Given the description of an element on the screen output the (x, y) to click on. 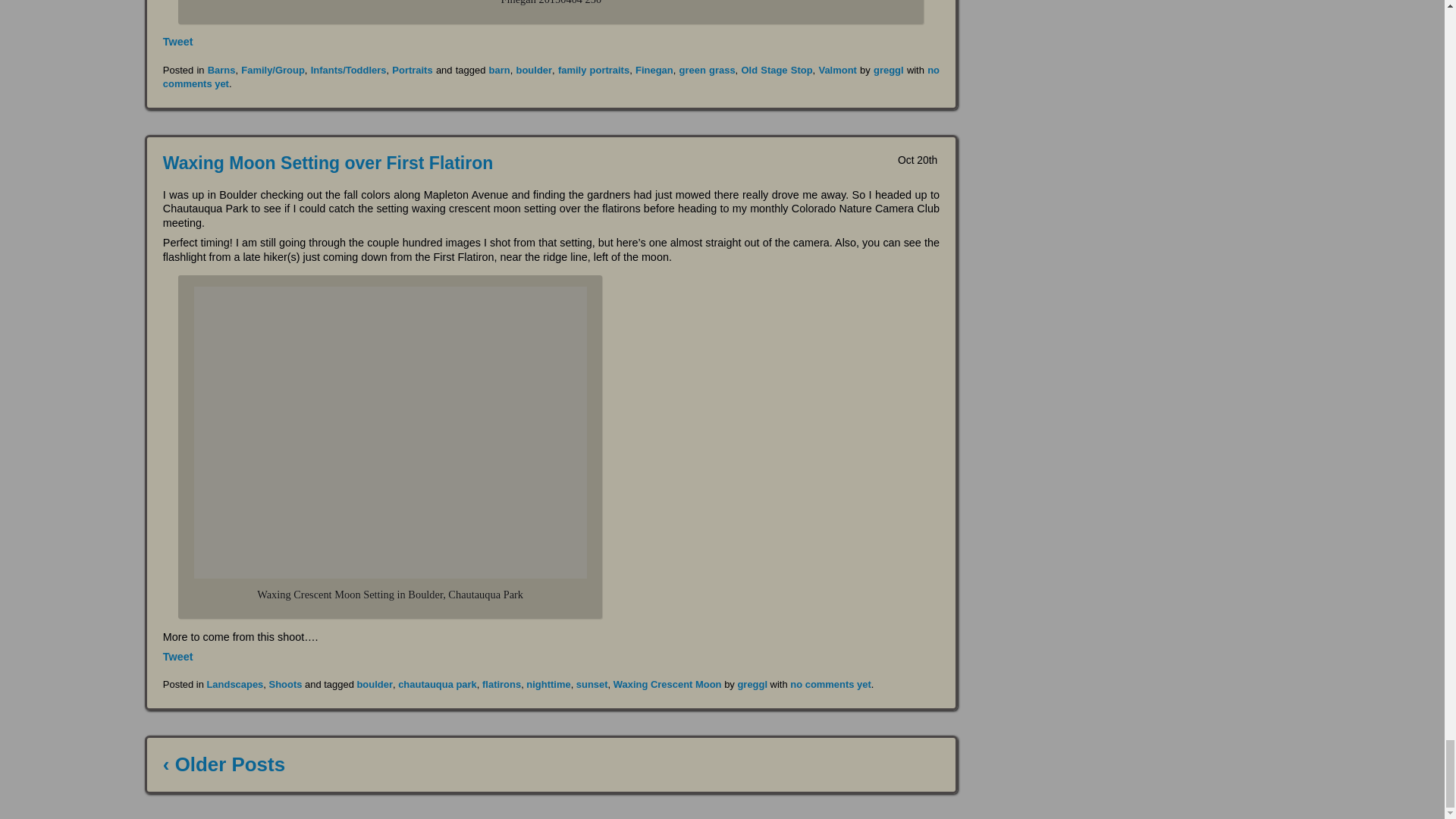
Boulder 20121018 275 (389, 432)
Waxing Crescent Moon (667, 684)
nighttime (547, 684)
boulder (534, 69)
no comments yet (551, 76)
Posts by greggl (888, 69)
Finegan (653, 69)
Landscapes (234, 684)
Waxing Moon Setting over First Flatiron (328, 162)
Barns (221, 69)
greggl (888, 69)
green grass (707, 69)
family portraits (592, 69)
barn (500, 69)
Waxing Moon Setting over First Flatiron (328, 162)
